Given the description of an element on the screen output the (x, y) to click on. 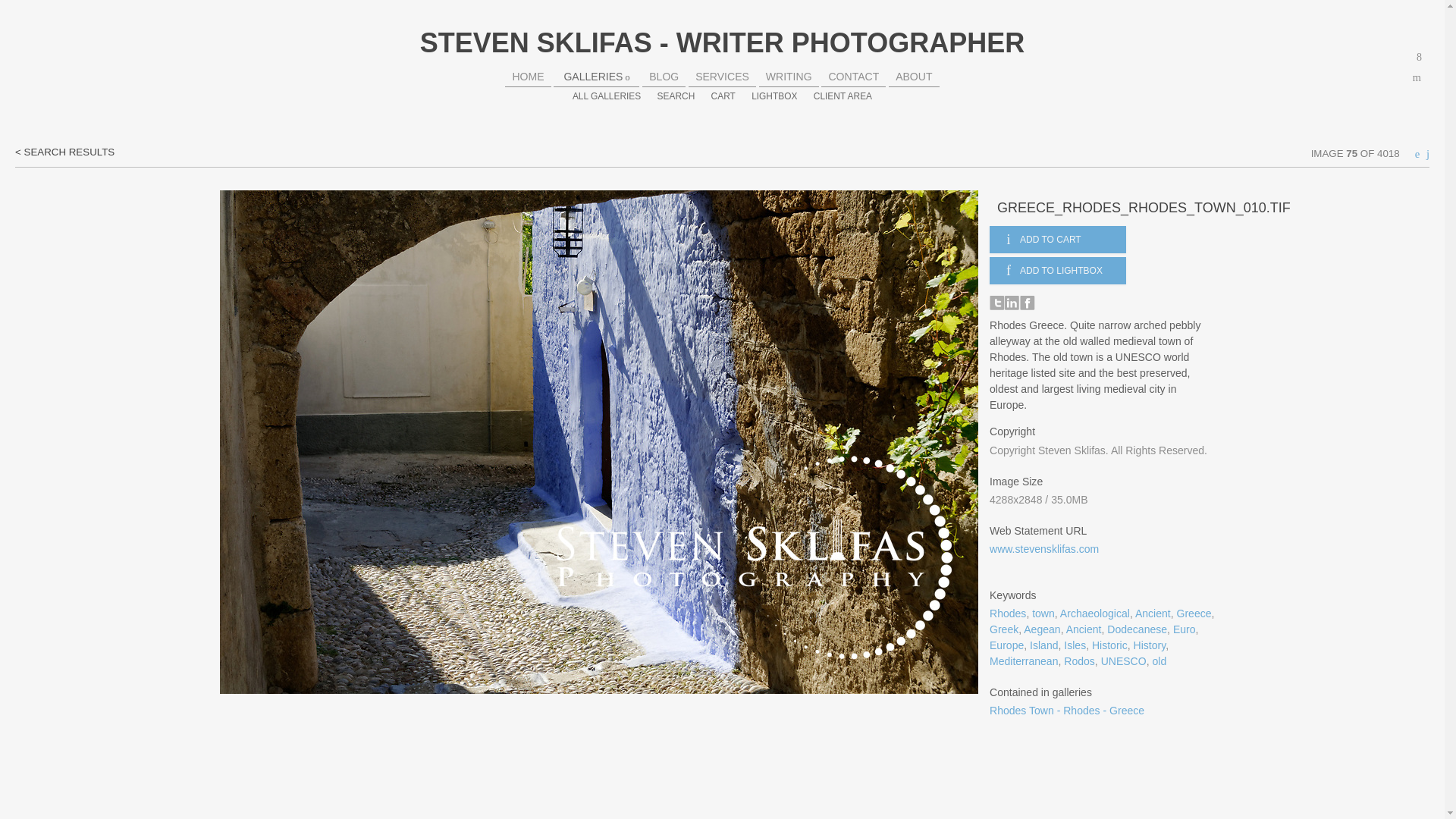
Island (1043, 645)
Euro (1184, 629)
Dodecanese (1136, 629)
SEARCH (676, 95)
town (1043, 613)
Aegean (1041, 629)
Greece (1193, 613)
Add to Cart (1057, 239)
ALL GALLERIES (606, 95)
LIGHTBOX (773, 95)
Archaeological (1094, 613)
WRITING (788, 76)
SERVICES (722, 76)
BLOG (663, 76)
ABOUT (913, 76)
